Given the description of an element on the screen output the (x, y) to click on. 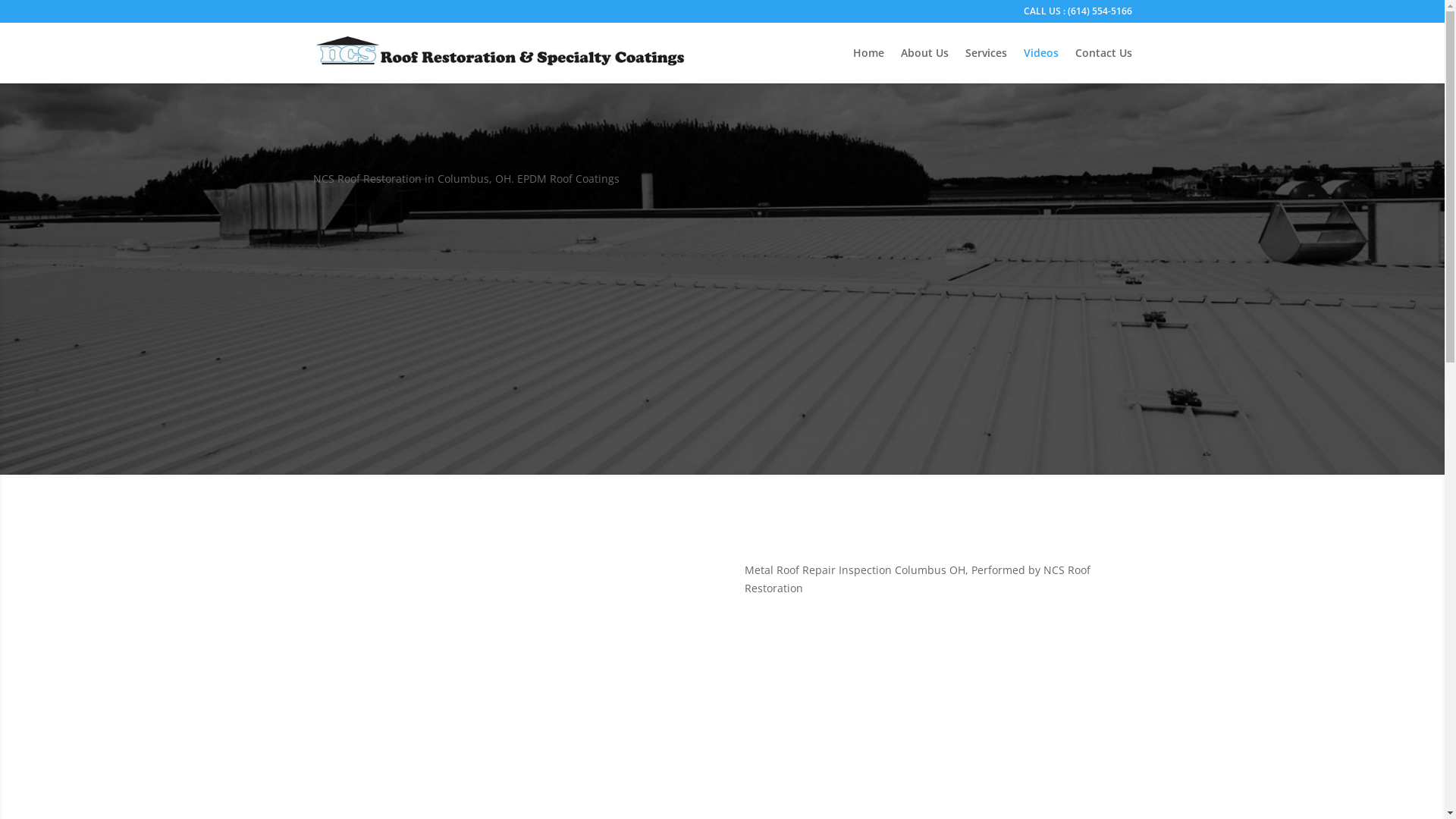
CALL US : (614) 554-5166 Element type: text (1077, 14)
Contact Us Element type: text (1103, 65)
Services Element type: text (985, 65)
About Us Element type: text (924, 65)
Home Element type: text (867, 65)
Videos Element type: text (1040, 65)
